Given the description of an element on the screen output the (x, y) to click on. 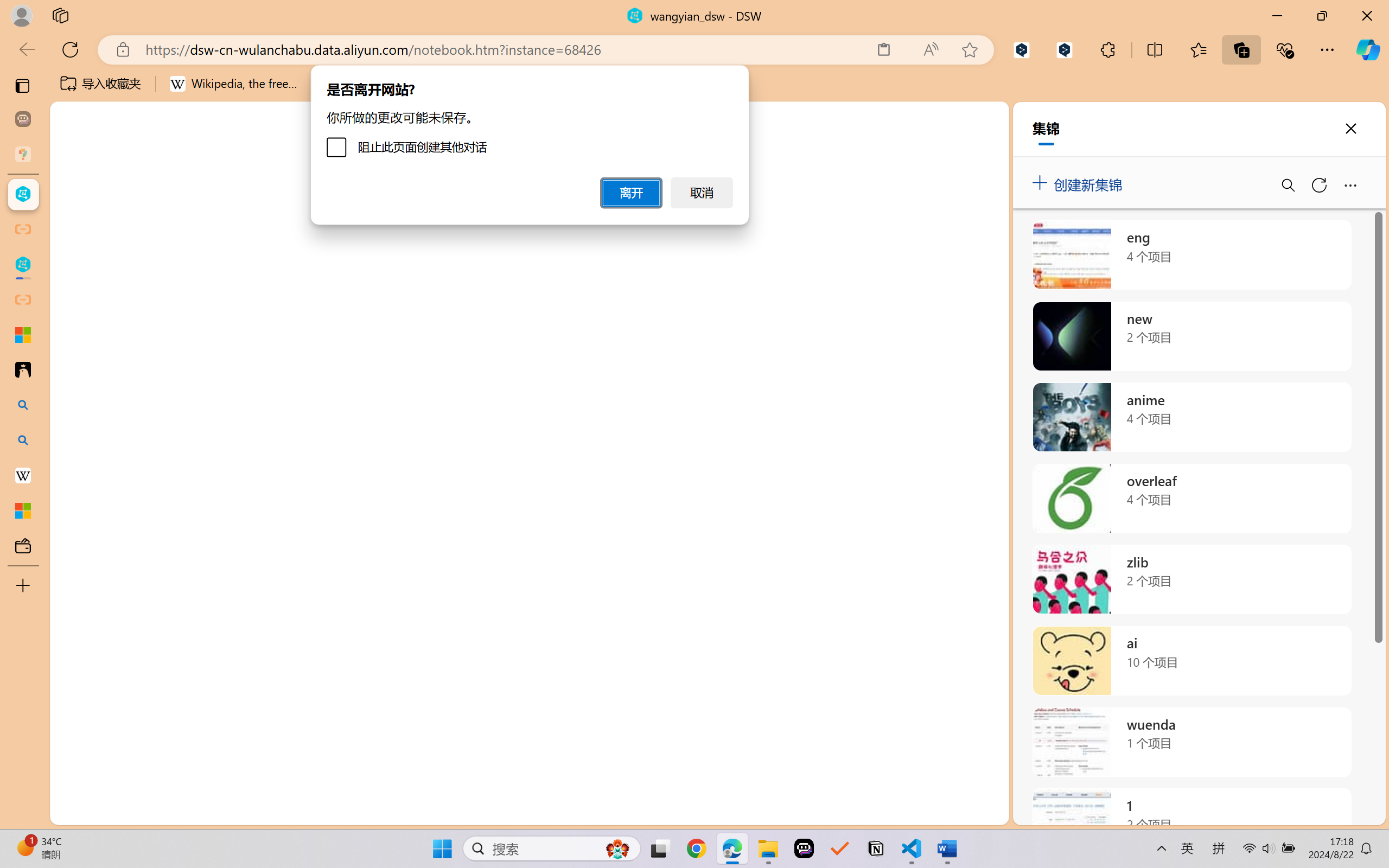
Copilot (Ctrl+Shift+.) (1368, 49)
Extensions (Ctrl+Shift+X) (73, 422)
Adjust indents and spacing - Microsoft Support (22, 334)
Application Menu (73, 194)
Manage (73, 778)
wangyian_dsw - DSW (22, 194)
Class: next-menu next-hoz widgets--iconMenu--BFkiHRM (1308, 121)
Forwarded Ports: 36301, 47065, 38781, 45817, 50331 (167, 812)
Toggle Secondary Side Bar (Ctrl+Alt+B) (1347, 159)
